Given the description of an element on the screen output the (x, y) to click on. 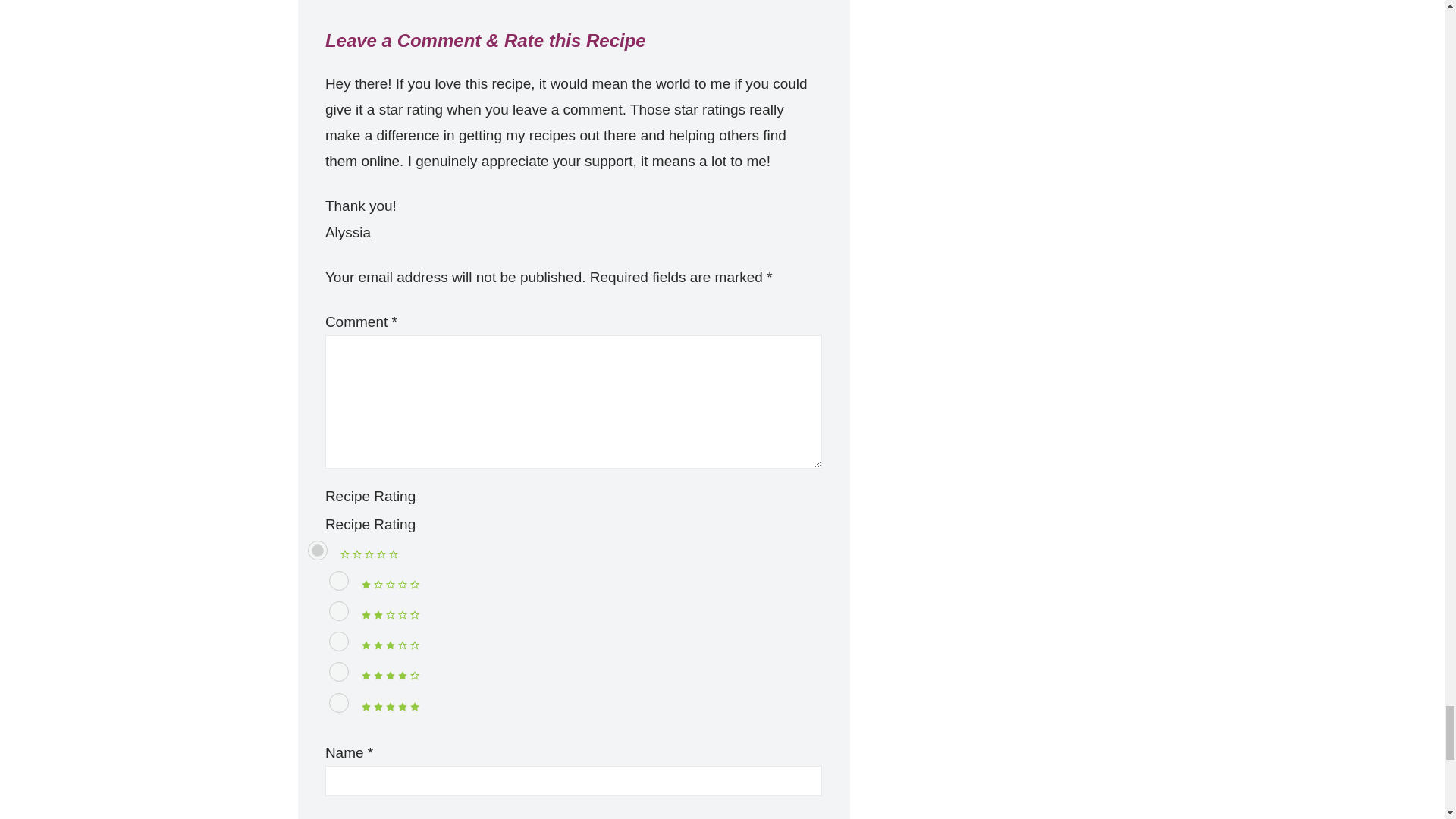
5 (339, 702)
1 (339, 580)
0 (317, 550)
2 (339, 610)
4 (339, 671)
3 (339, 641)
